Given the description of an element on the screen output the (x, y) to click on. 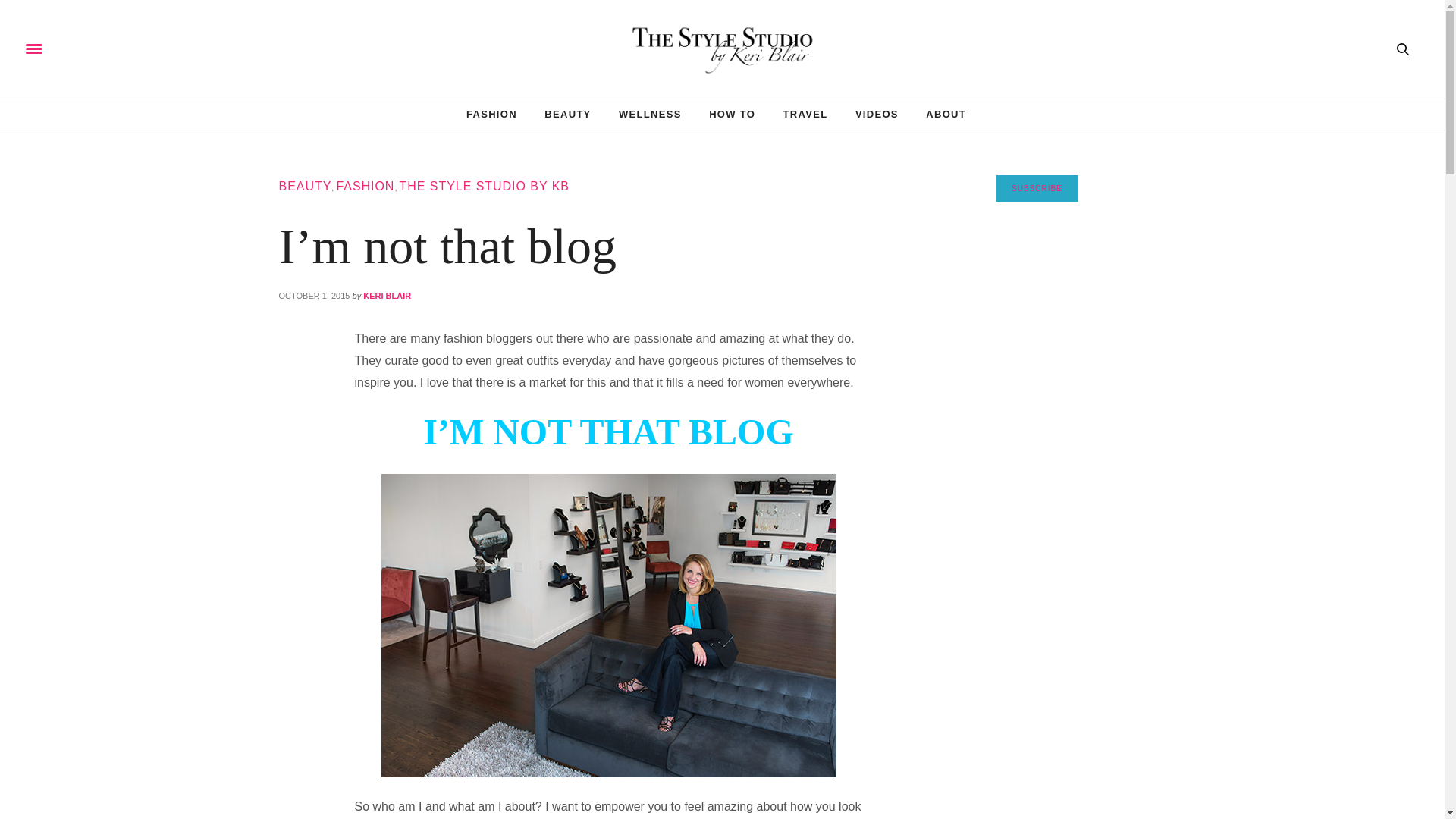
WELLNESS (649, 114)
VIDEOS (877, 114)
ABOUT (946, 114)
HOW TO (732, 114)
Posts by Keri Blair (386, 295)
BEAUTY (305, 185)
The Style Studio by Keri Blair (721, 49)
FASHION (490, 114)
BEAUTY (567, 114)
TRAVEL (805, 114)
